Given the description of an element on the screen output the (x, y) to click on. 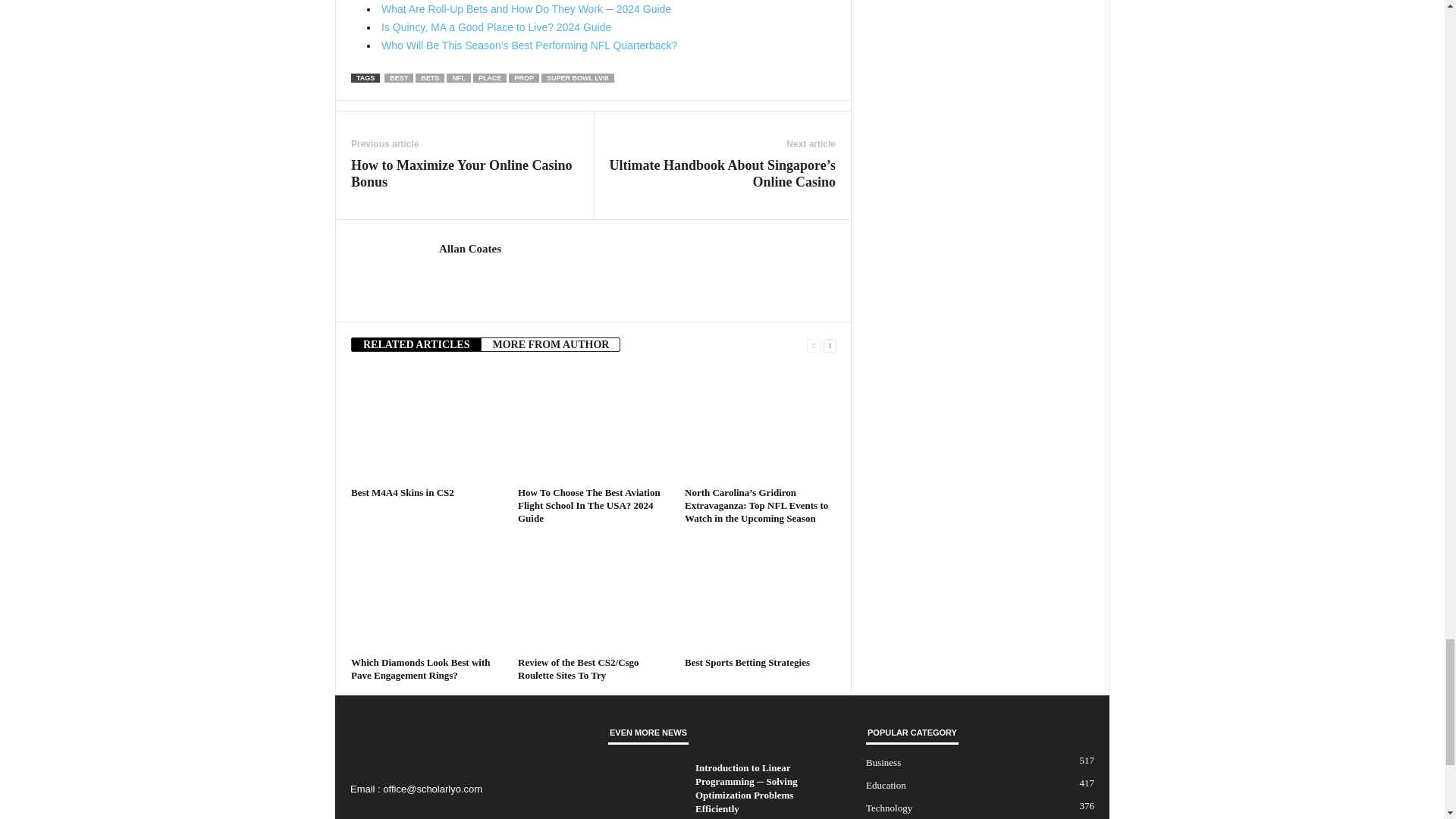
Best M4A4 Skins in CS2 (426, 424)
Best M4A4 Skins in CS2 (402, 491)
